Given the description of an element on the screen output the (x, y) to click on. 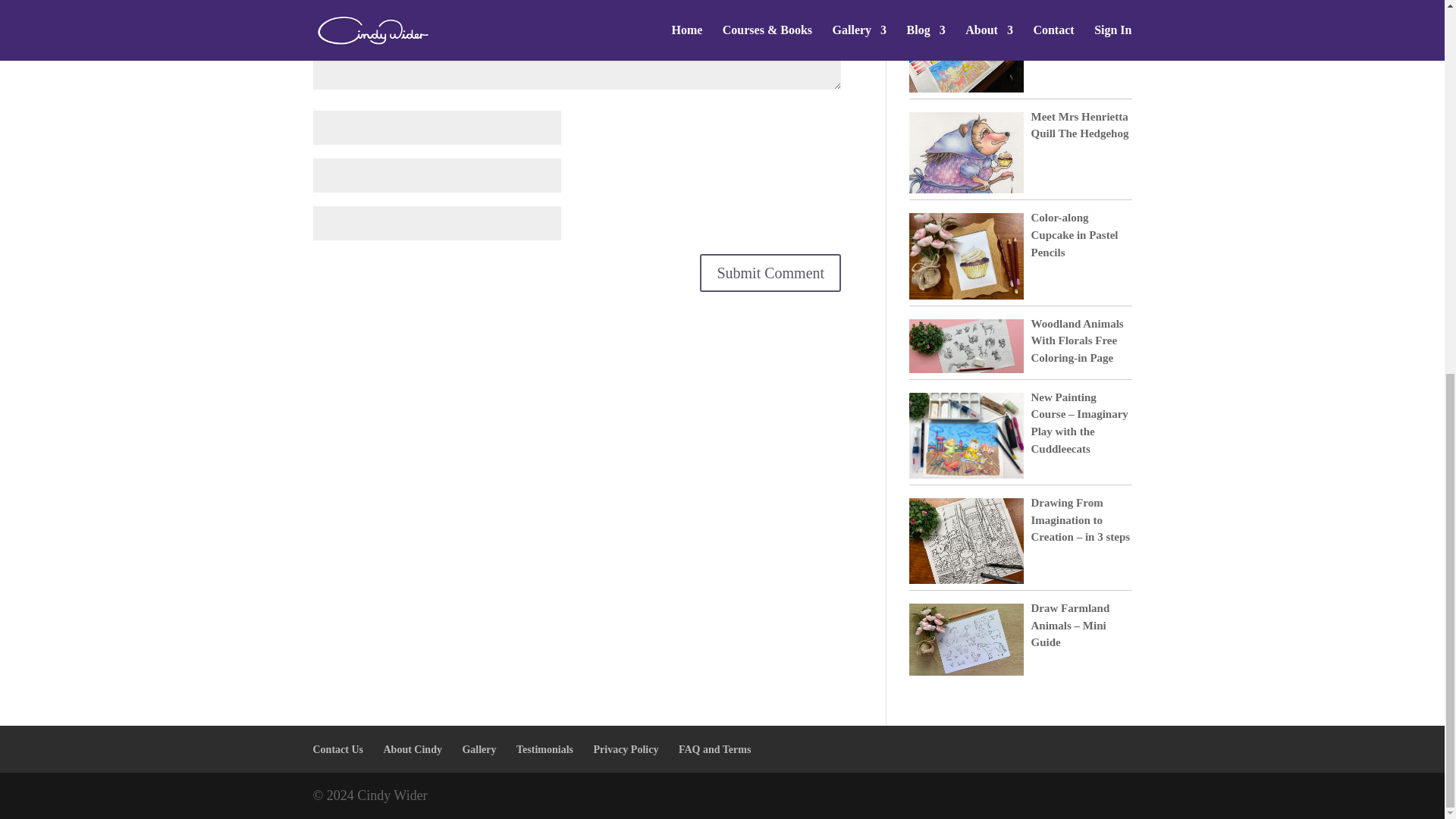
Submit Comment (770, 272)
Woodland Animals With Florals Free Coloring-in Page (1077, 340)
Meet Mrs Henrietta Quill The Hedgehog (1079, 125)
Submit Comment (770, 272)
Top 10 Tips To Help You Draw and Color More Often (1081, 38)
Color-along Cupcake in Pastel Pencils (1074, 234)
